Given the description of an element on the screen output the (x, y) to click on. 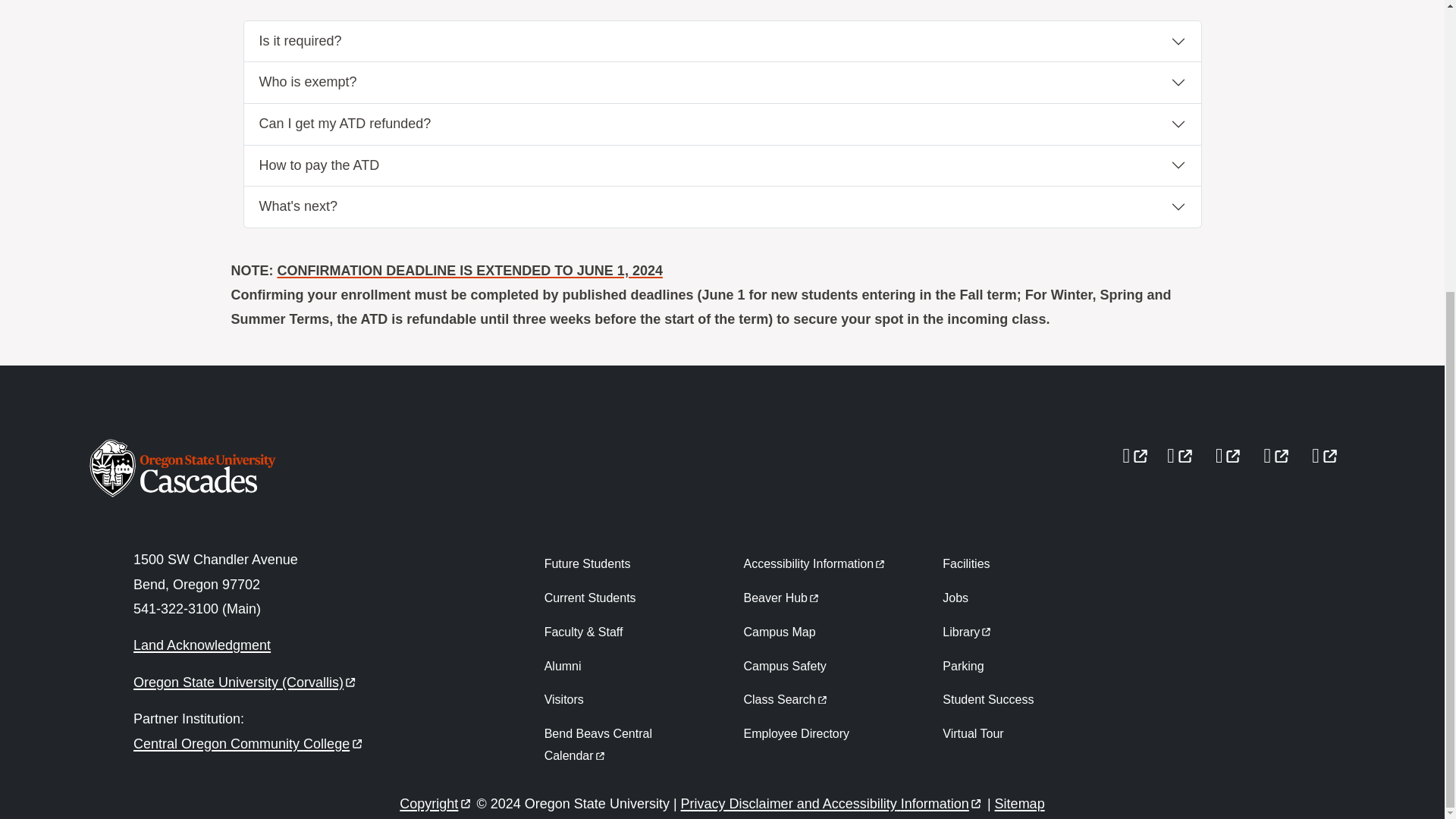
How to pay the ATD (722, 165)
Link is external (1281, 450)
Link is external (599, 753)
Who is exempt? (722, 82)
Link is external (356, 740)
May 1 Advanced Tuition Deadline Extended to June 1 (470, 270)
Link is external (350, 678)
Link is external (1232, 450)
Is it required? (722, 41)
Link is external (1184, 450)
